Given the description of an element on the screen output the (x, y) to click on. 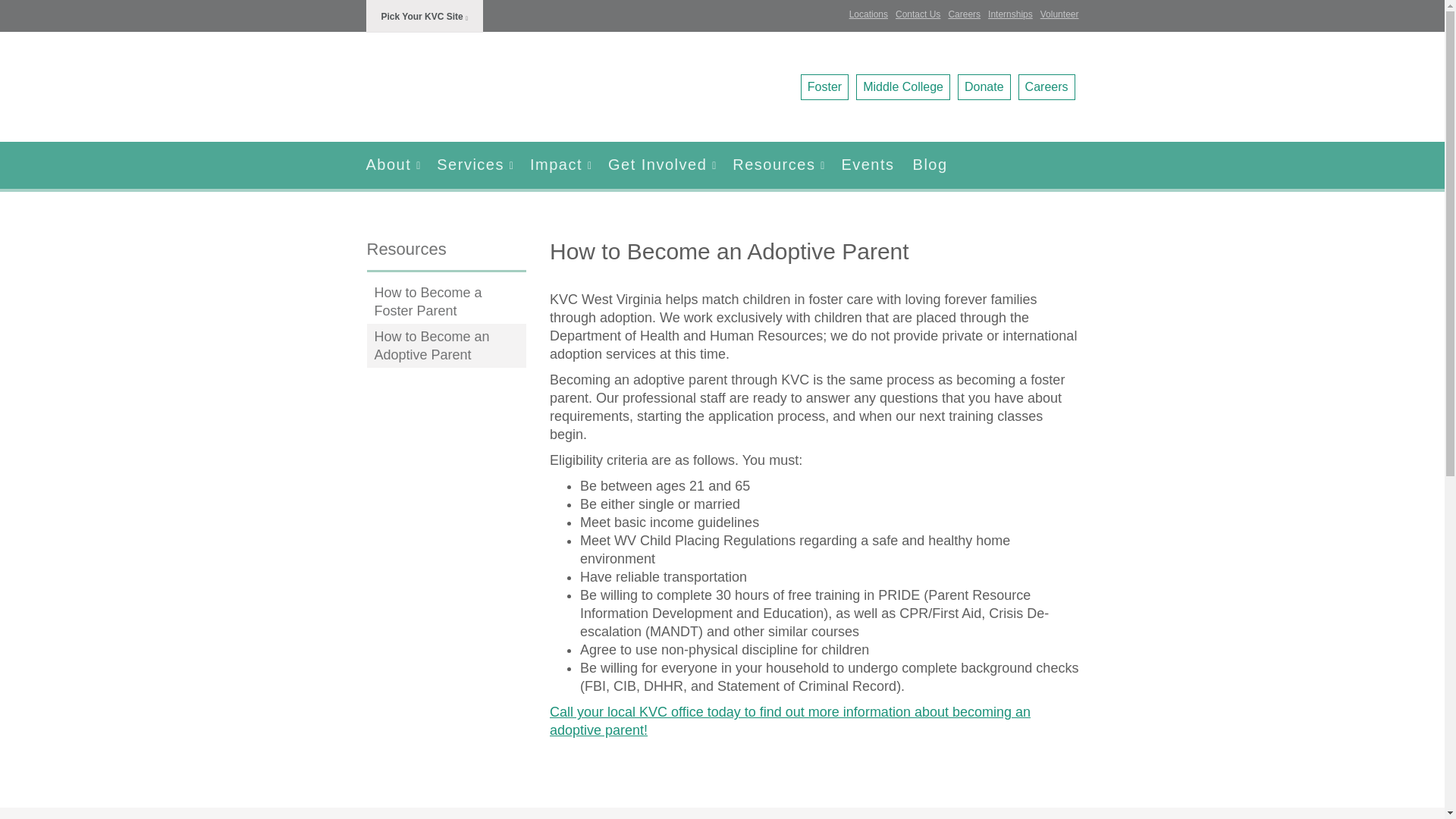
Locations (790, 720)
Donate (984, 86)
Pick Your KVC Site (424, 16)
Foster (824, 86)
About (396, 165)
Careers (963, 14)
Middle College (903, 86)
Services (474, 165)
Volunteer (1059, 14)
Internships (1010, 14)
